Given the description of an element on the screen output the (x, y) to click on. 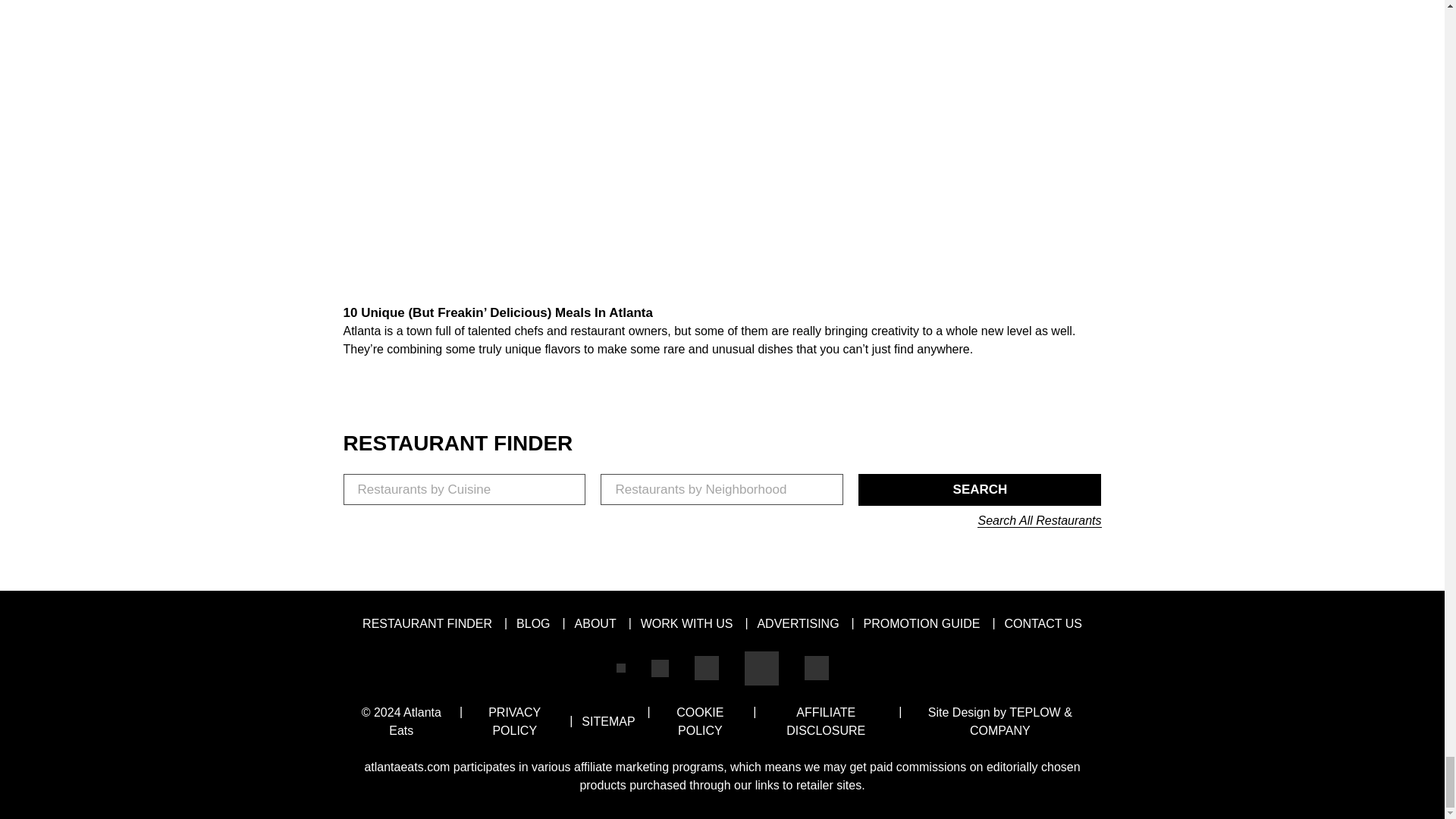
SEARCH (979, 490)
ADVERTISING (797, 623)
CONTACT US (1042, 623)
BLOG (533, 623)
AFFILIATE DISCLOSURE (825, 721)
Search All Restaurants (1038, 520)
ABOUT (595, 623)
RESTAURANT FINDER (427, 623)
COOKIE POLICY (700, 721)
PROMOTION GUIDE (921, 623)
